Given the description of an element on the screen output the (x, y) to click on. 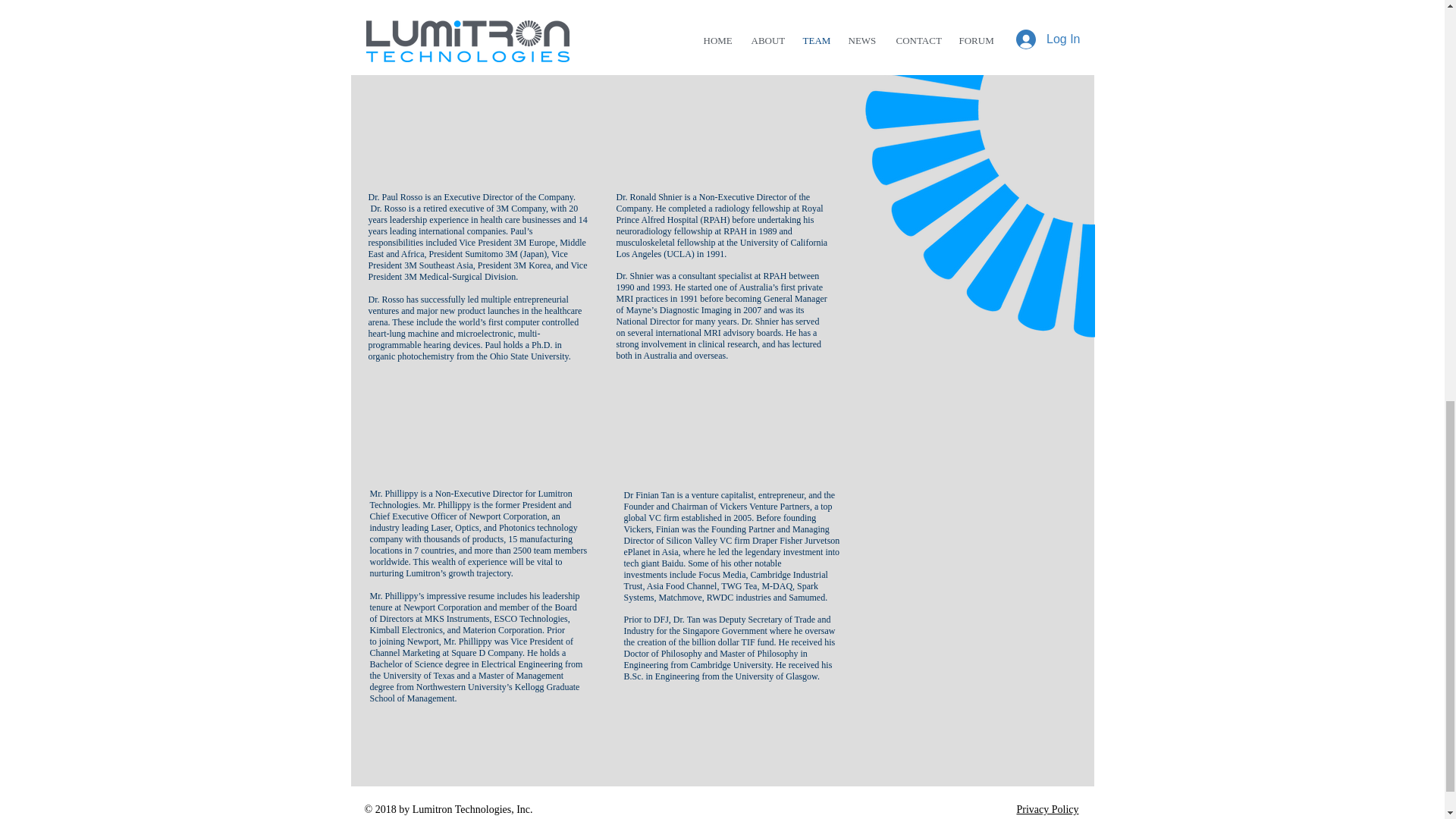
Privacy Policy (1047, 808)
